Given the description of an element on the screen output the (x, y) to click on. 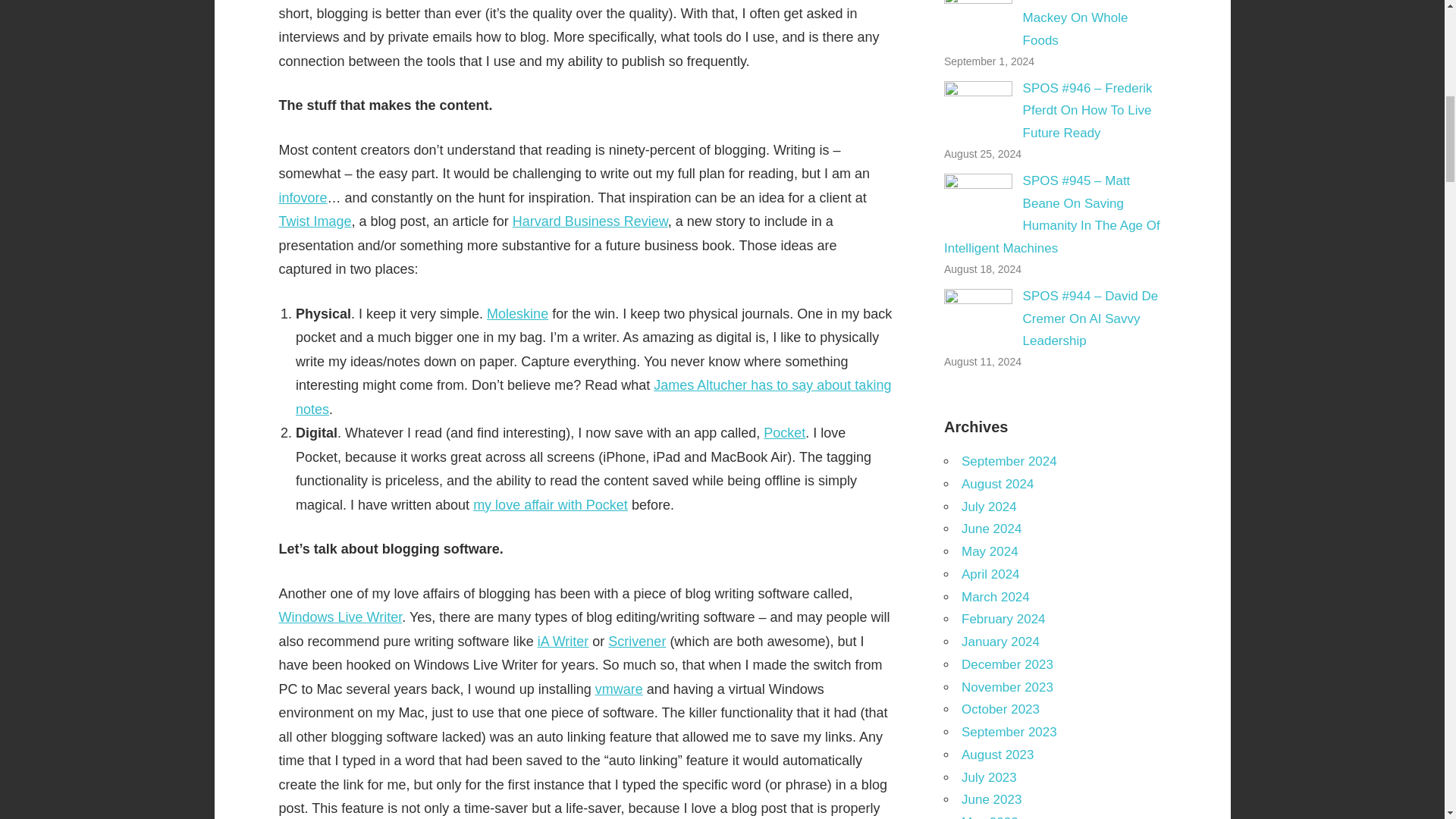
infovore (303, 197)
vmware (619, 688)
iA Writer (563, 641)
my love affair with Pocket (550, 504)
Moleskine (517, 313)
Scrivener (636, 641)
James Altucher has to say about taking notes (593, 396)
Windows Live Writer (341, 616)
Harvard Business Review (590, 221)
Pocket (783, 432)
